Given the description of an element on the screen output the (x, y) to click on. 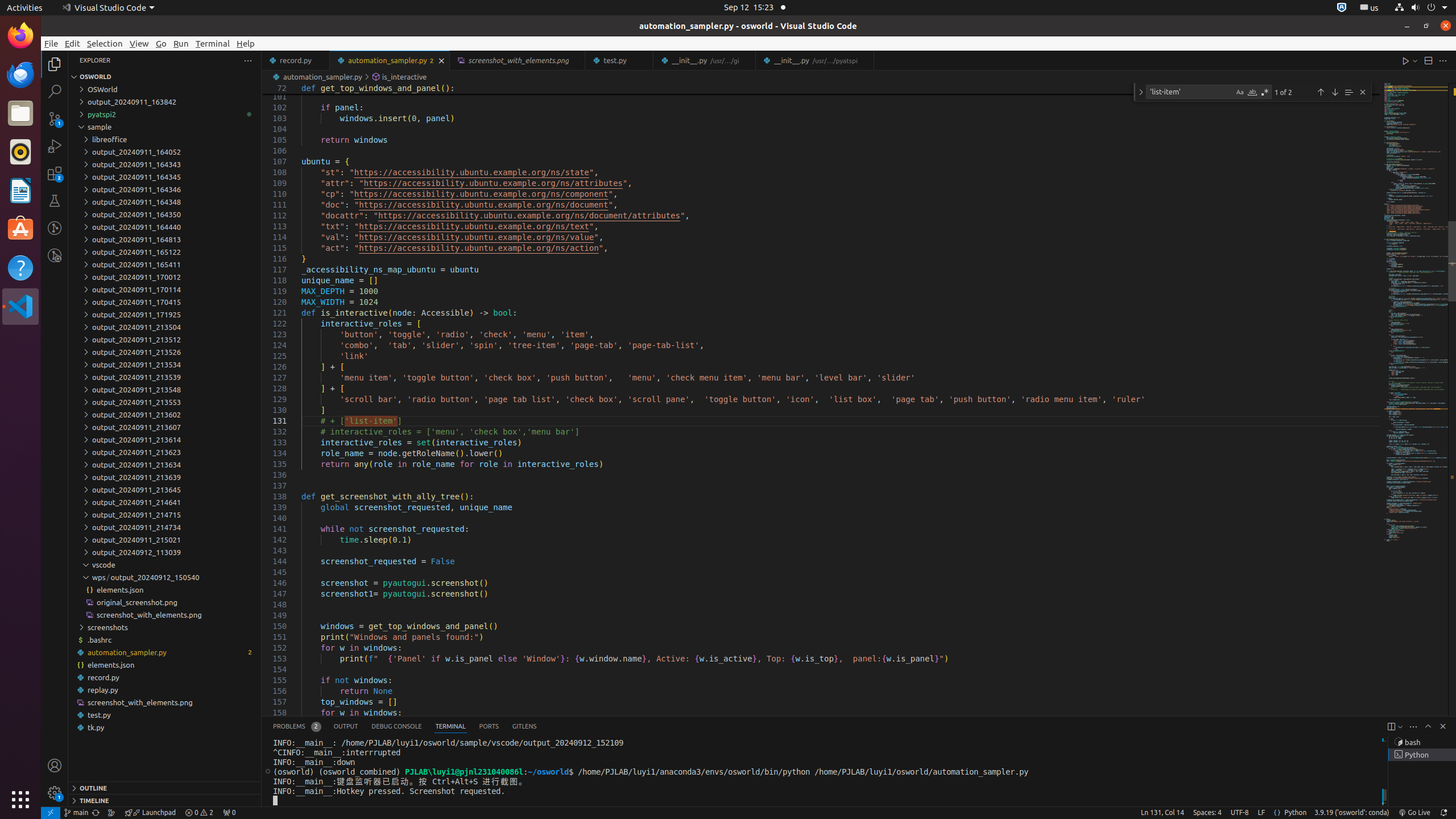
Notifications Element type: push-button (1443, 812)
record.py Element type: tree-item (164, 677)
__init__.py Element type: page-tab (814, 60)
GitLens Inspect Element type: page-tab (54, 255)
